Given the description of an element on the screen output the (x, y) to click on. 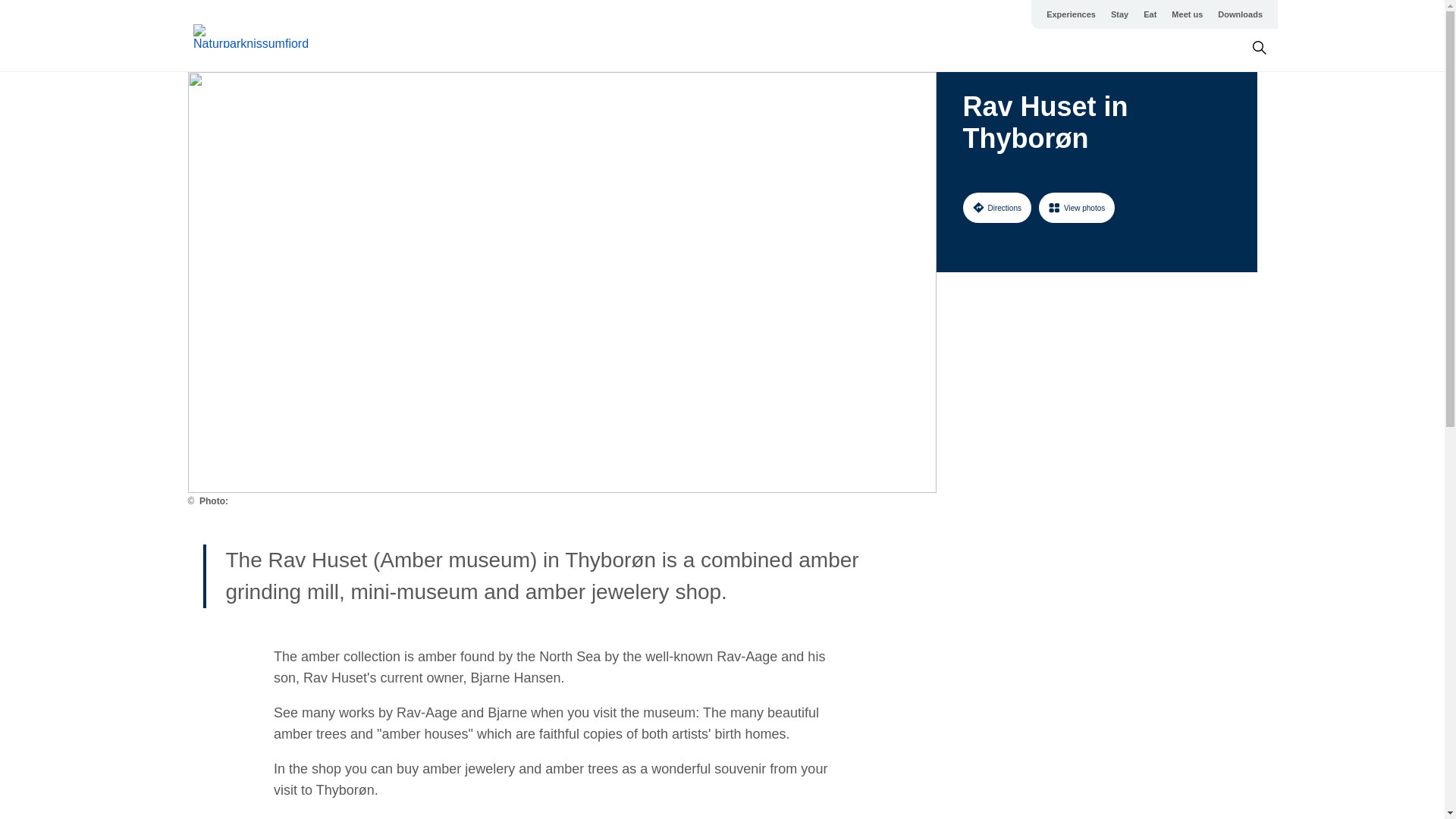
Experiences (1071, 14)
Directions (996, 207)
Meet us (1186, 14)
Downloads (1239, 14)
View photos (1077, 207)
Eat (1149, 14)
Go to homepage (253, 35)
Stay (1119, 14)
